Given the description of an element on the screen output the (x, y) to click on. 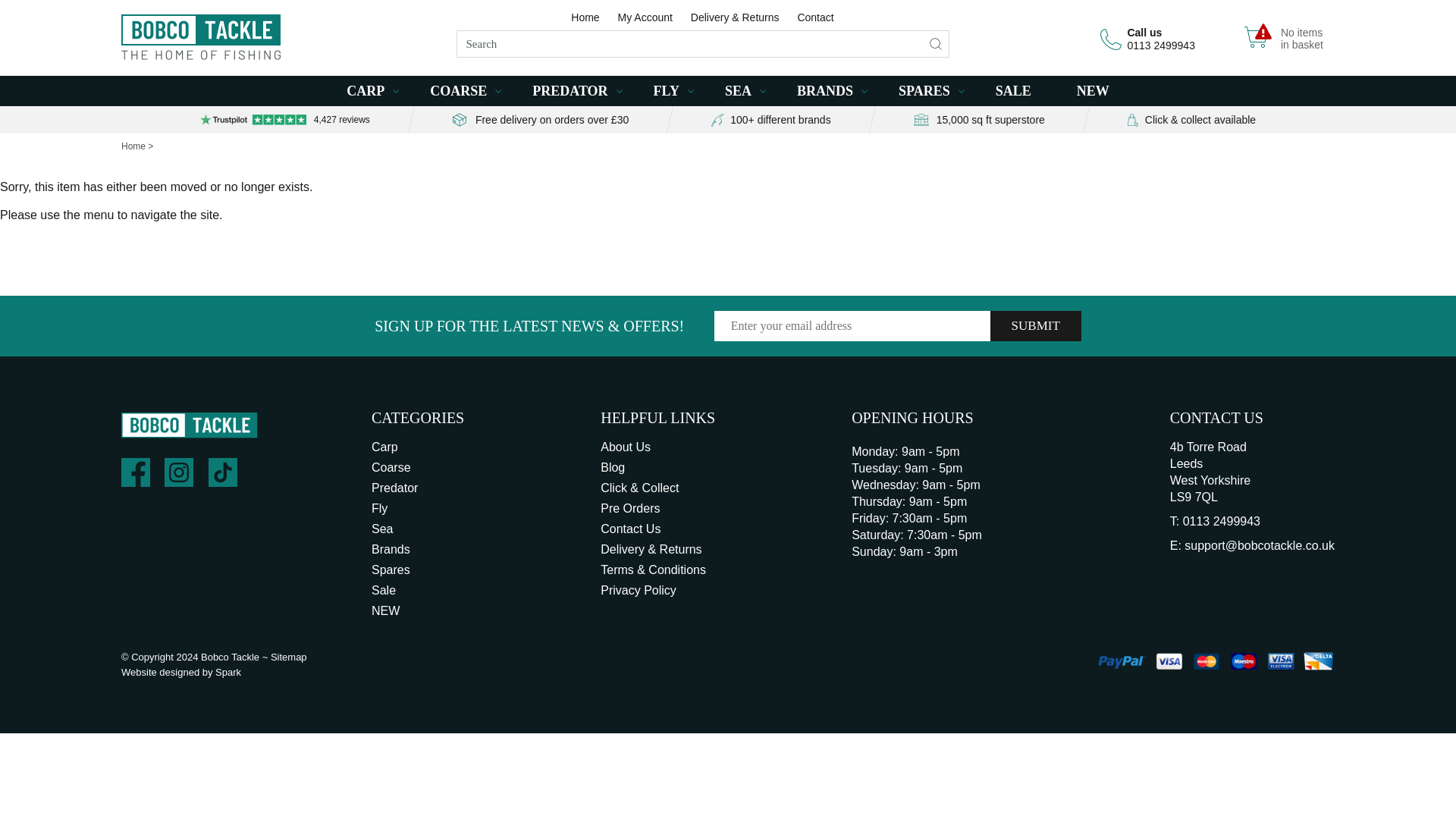
Call us (1143, 32)
Contact (815, 17)
COARSE (457, 90)
CARP (365, 90)
Home (585, 17)
My Account (1299, 38)
